Given the description of an element on the screen output the (x, y) to click on. 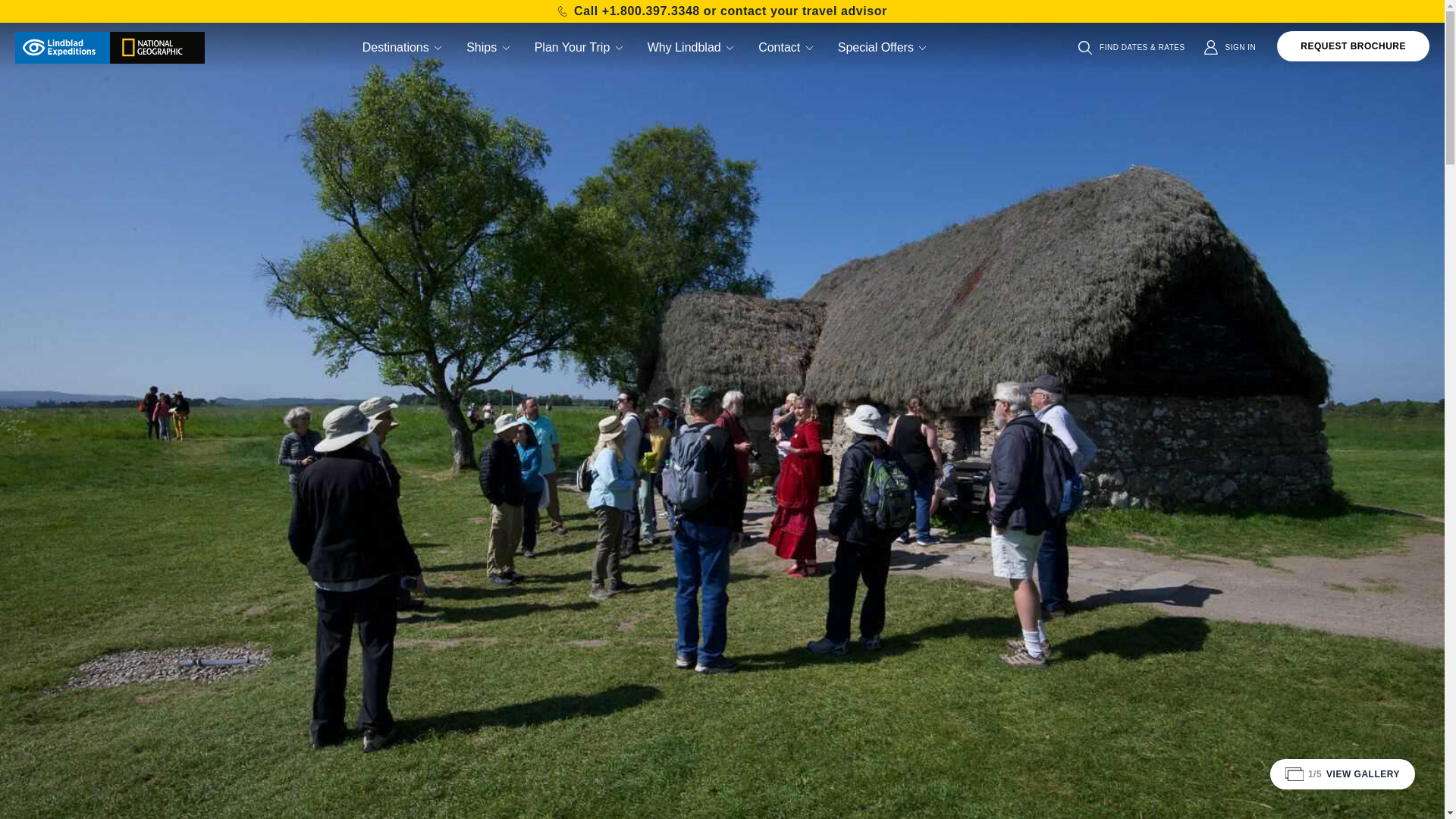
Destinations (403, 47)
